Given the description of an element on the screen output the (x, y) to click on. 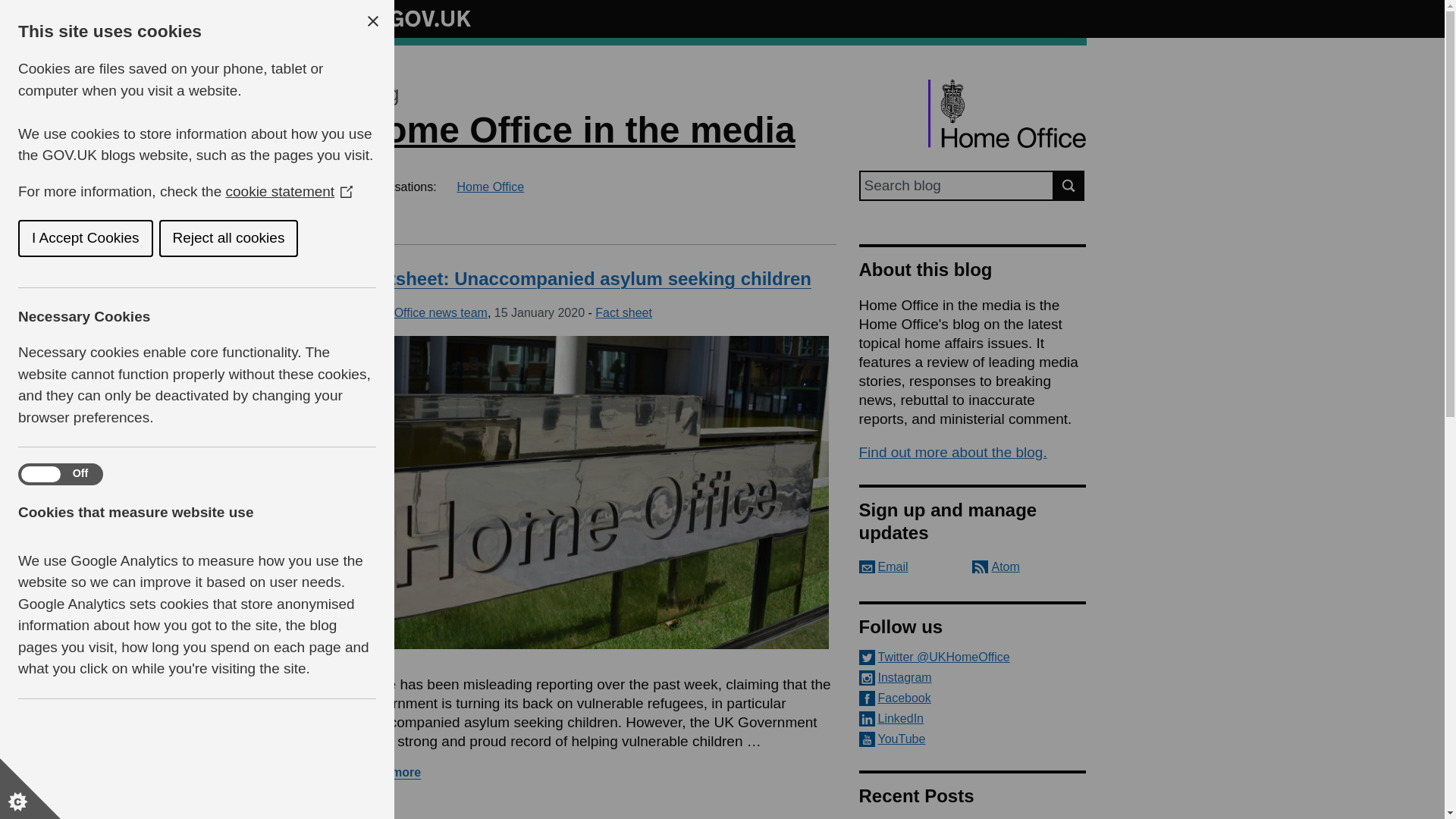
GOV.UK (414, 15)
Posts by Home Office news team (422, 312)
Search (1069, 185)
Email (883, 566)
Skip to main content (11, 7)
Go to the GOV.UK homepage (414, 18)
Factsheet: Unaccompanied asylum seeking children (584, 278)
Facebook (972, 698)
Home Office news team (422, 312)
Blog (378, 93)
Find out more about the blog. (952, 452)
Home Office in the media (576, 129)
Home Office (490, 186)
Fact sheet (623, 312)
